Given the description of an element on the screen output the (x, y) to click on. 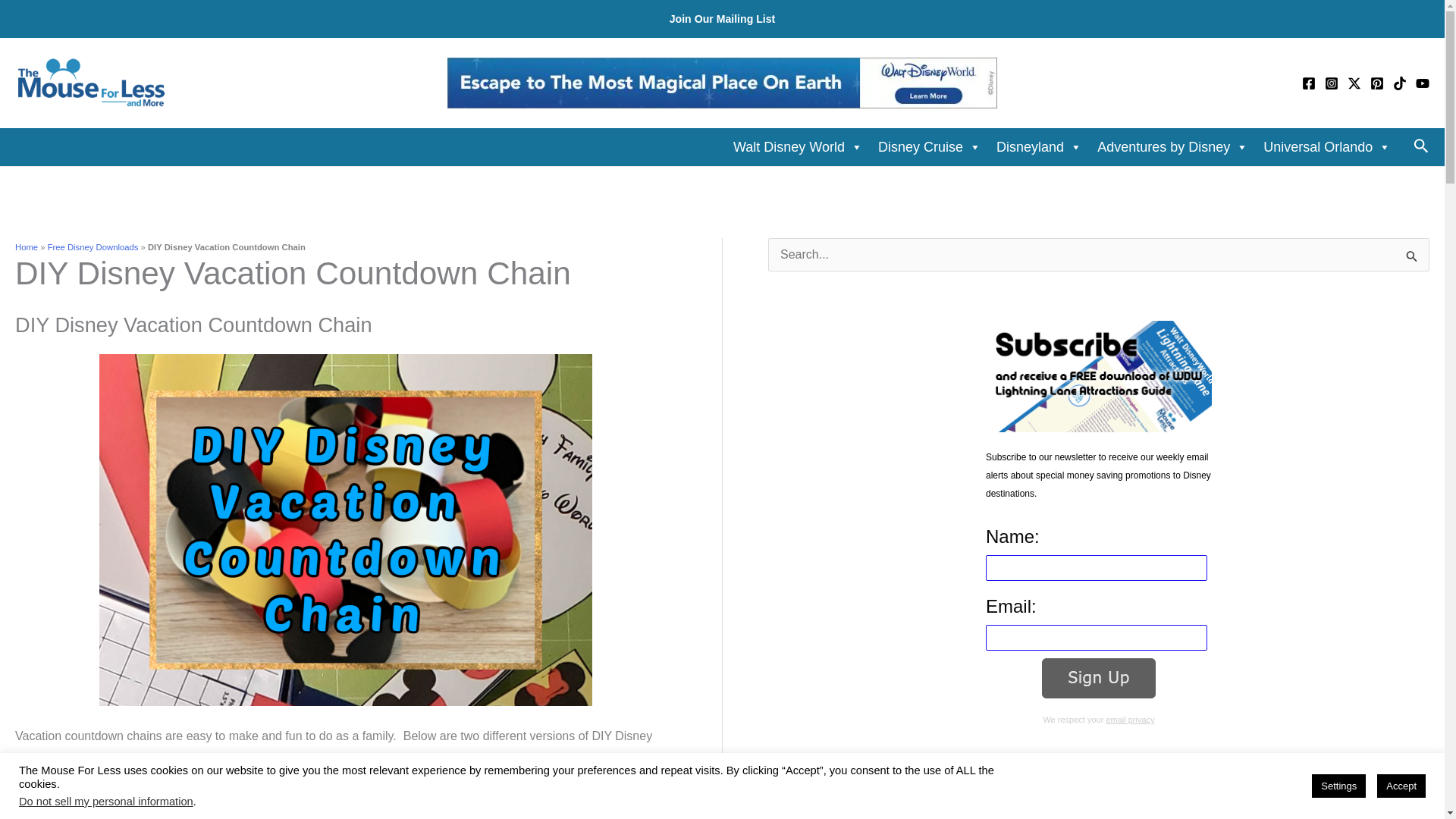
Join Our Mailing List (722, 19)
Privacy Policy (1129, 718)
AWeber Email Marketing (1099, 757)
Walt Disney World (797, 146)
